Given the description of an element on the screen output the (x, y) to click on. 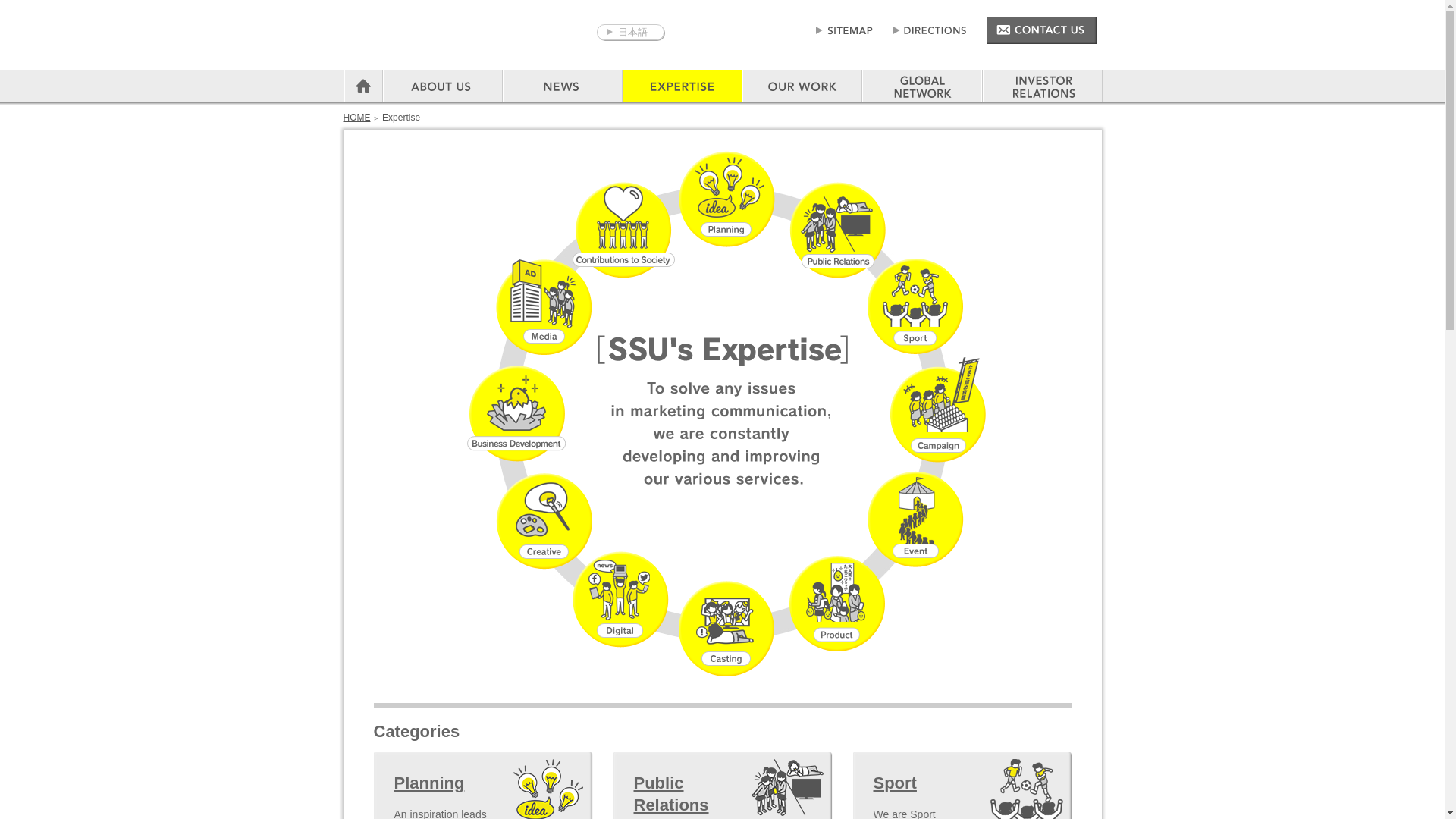
Our Work (800, 85)
Sport (905, 783)
SUNNY SIDE UP Inc. (456, 37)
Sitemap (843, 30)
HOME (355, 117)
Investors Relations (1042, 85)
About Us (440, 85)
News (561, 85)
Contact Us (1041, 30)
Expertise (681, 85)
Directions (929, 30)
